Given the description of an element on the screen output the (x, y) to click on. 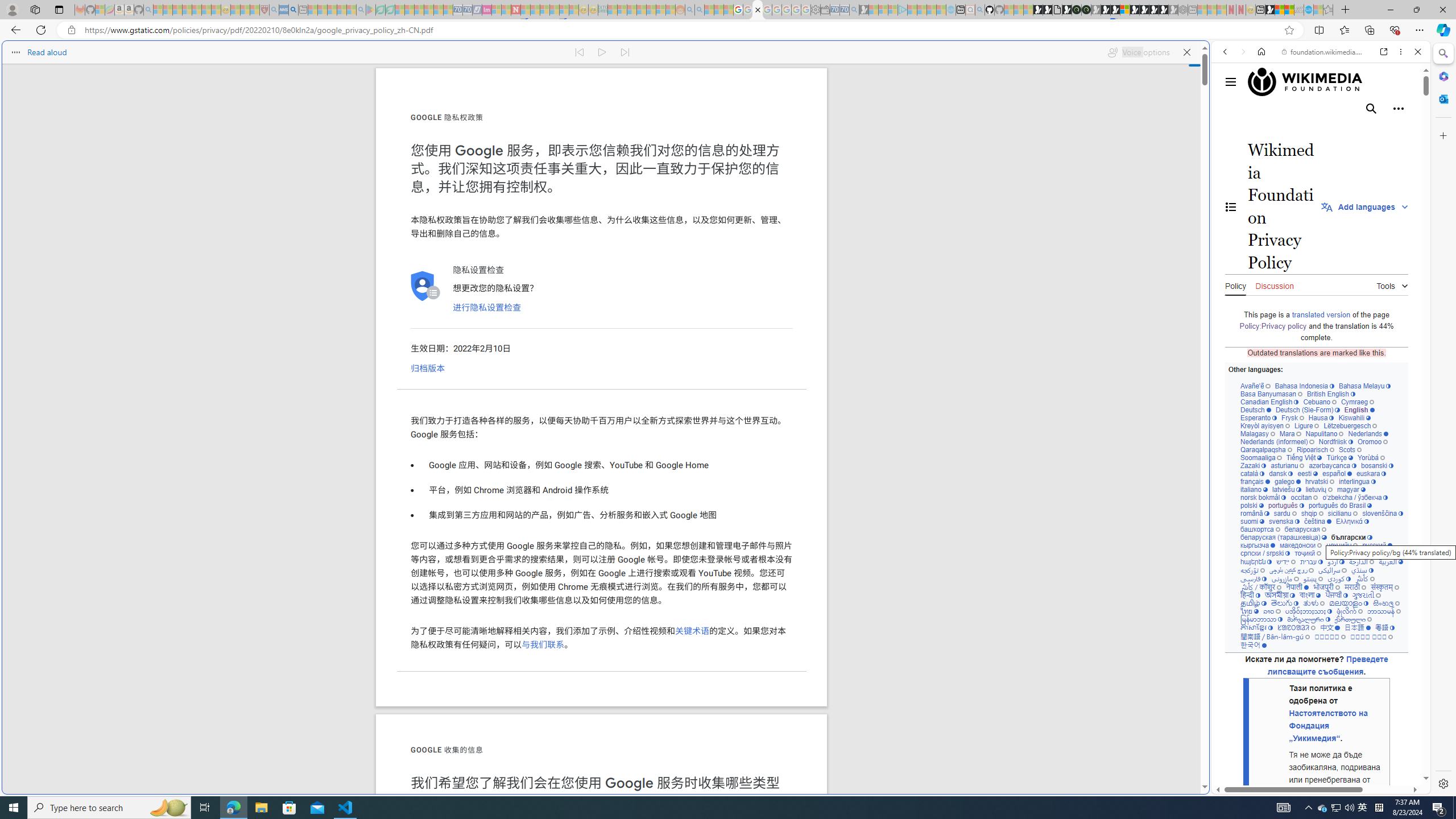
Nordfriisk (1334, 441)
Bahasa Indonesia (1303, 385)
eesti (1307, 473)
Policy (1235, 284)
Policy:Privacy policy (1273, 325)
